Given the description of an element on the screen output the (x, y) to click on. 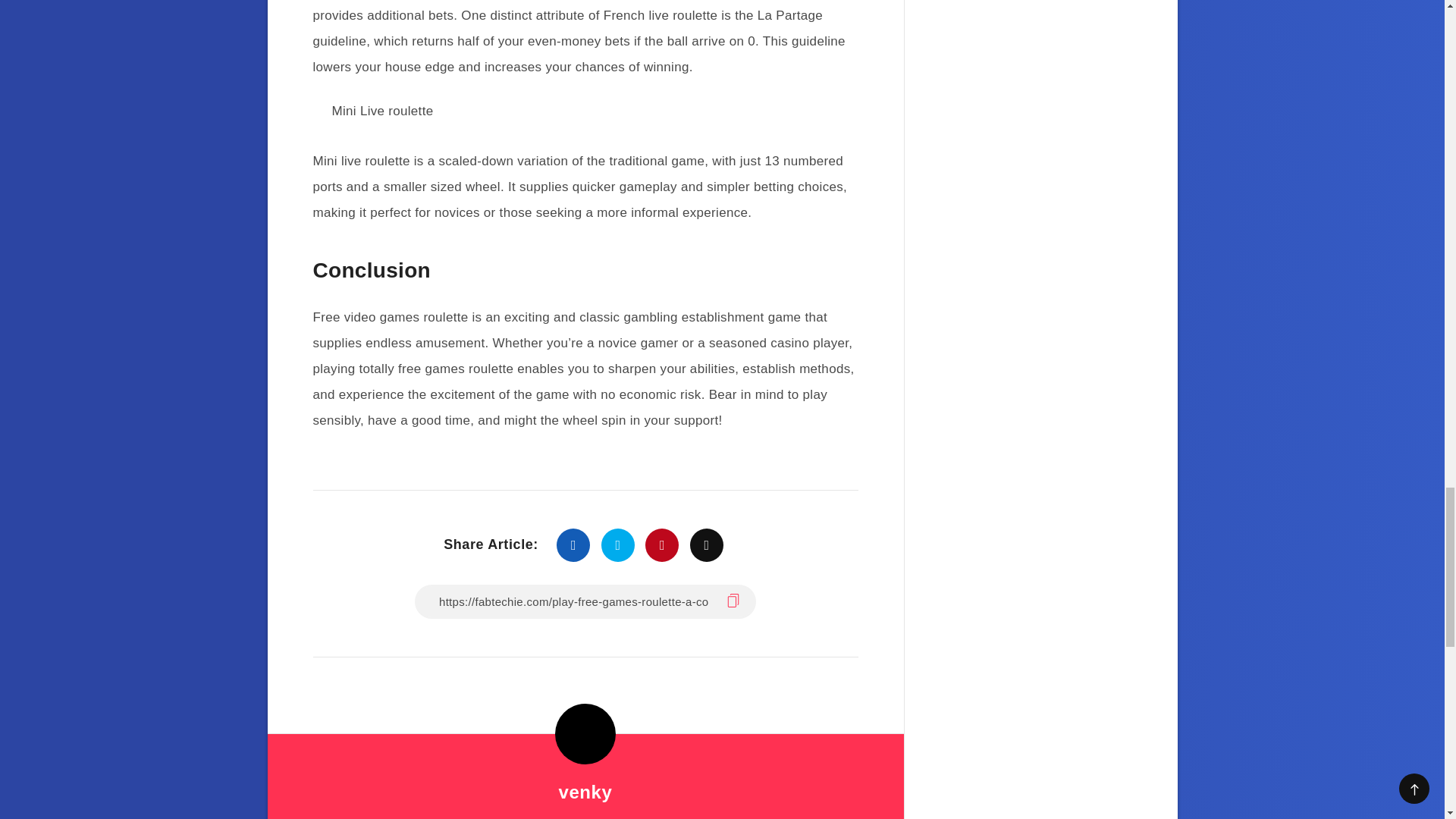
venky (584, 792)
